Given the description of an element on the screen output the (x, y) to click on. 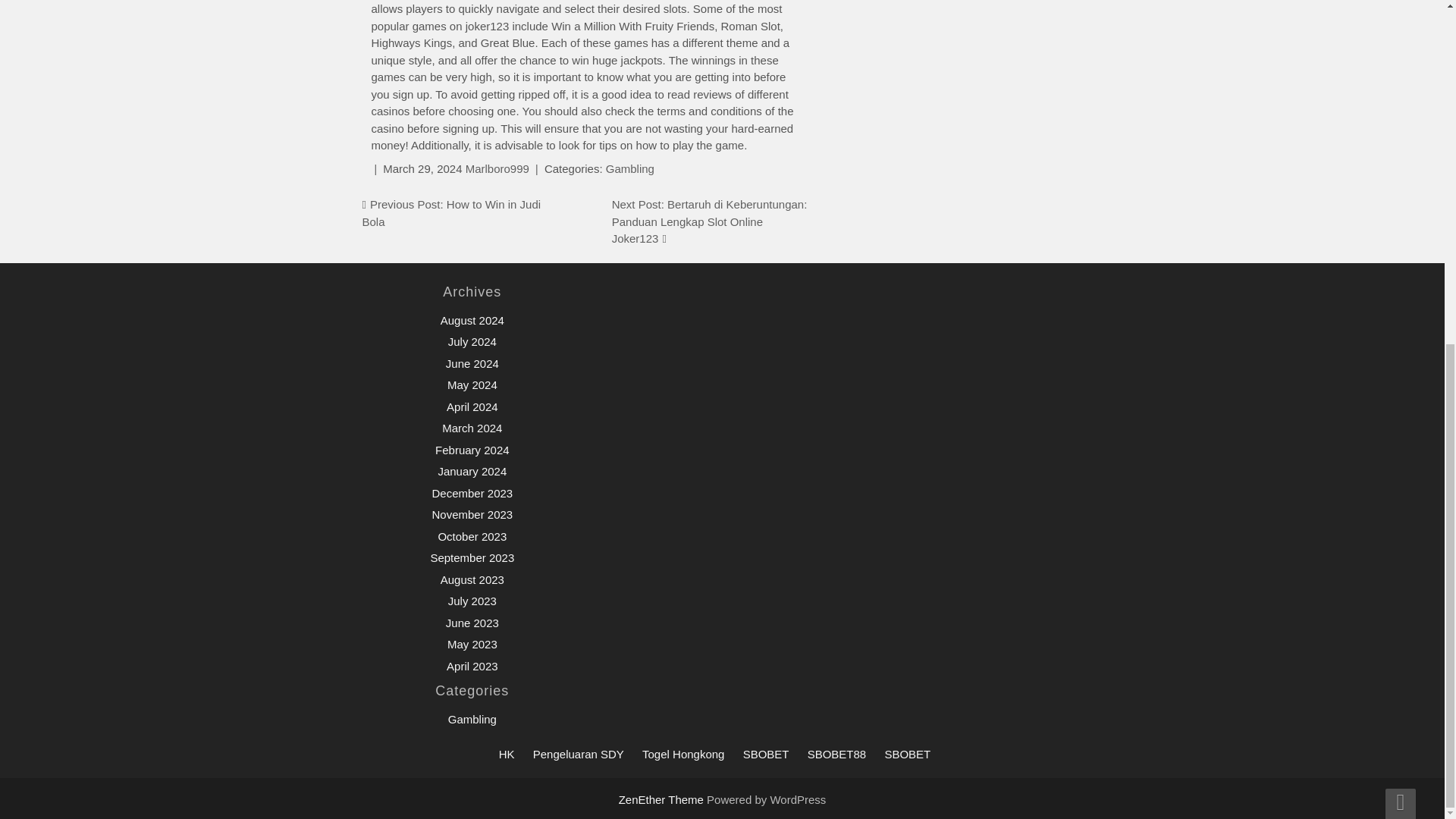
July 2024 (472, 341)
Pengeluaran SDY (578, 753)
April 2023 (471, 666)
December 2023 (471, 492)
Gambling (472, 718)
HK (507, 753)
February 2024 (472, 449)
July 2023 (472, 600)
May 2023 (471, 644)
Previous Post: How to Win in Judi Bola (451, 213)
